Given the description of an element on the screen output the (x, y) to click on. 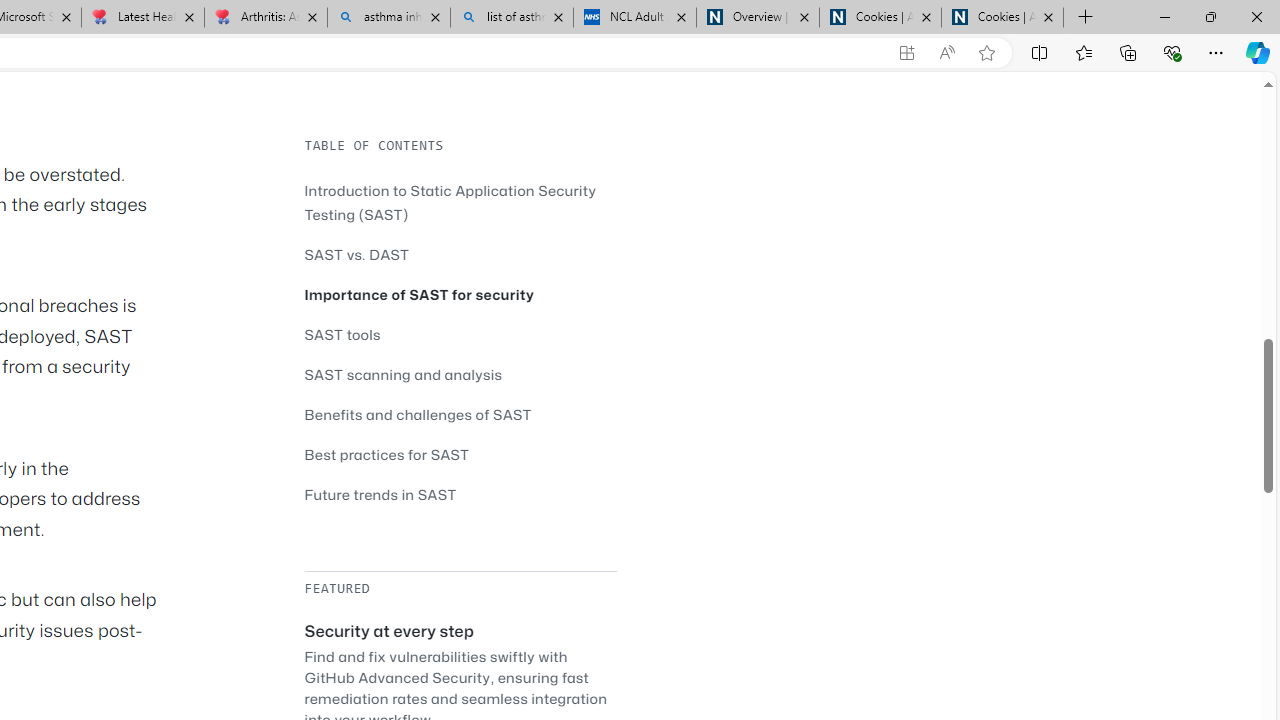
Future trends in SAST (460, 493)
Introduction to Static Application Security Testing (SAST) (450, 202)
SAST scanning and analysis (460, 374)
Importance of SAST for security (460, 294)
SAST vs. DAST (460, 254)
